Given the description of an element on the screen output the (x, y) to click on. 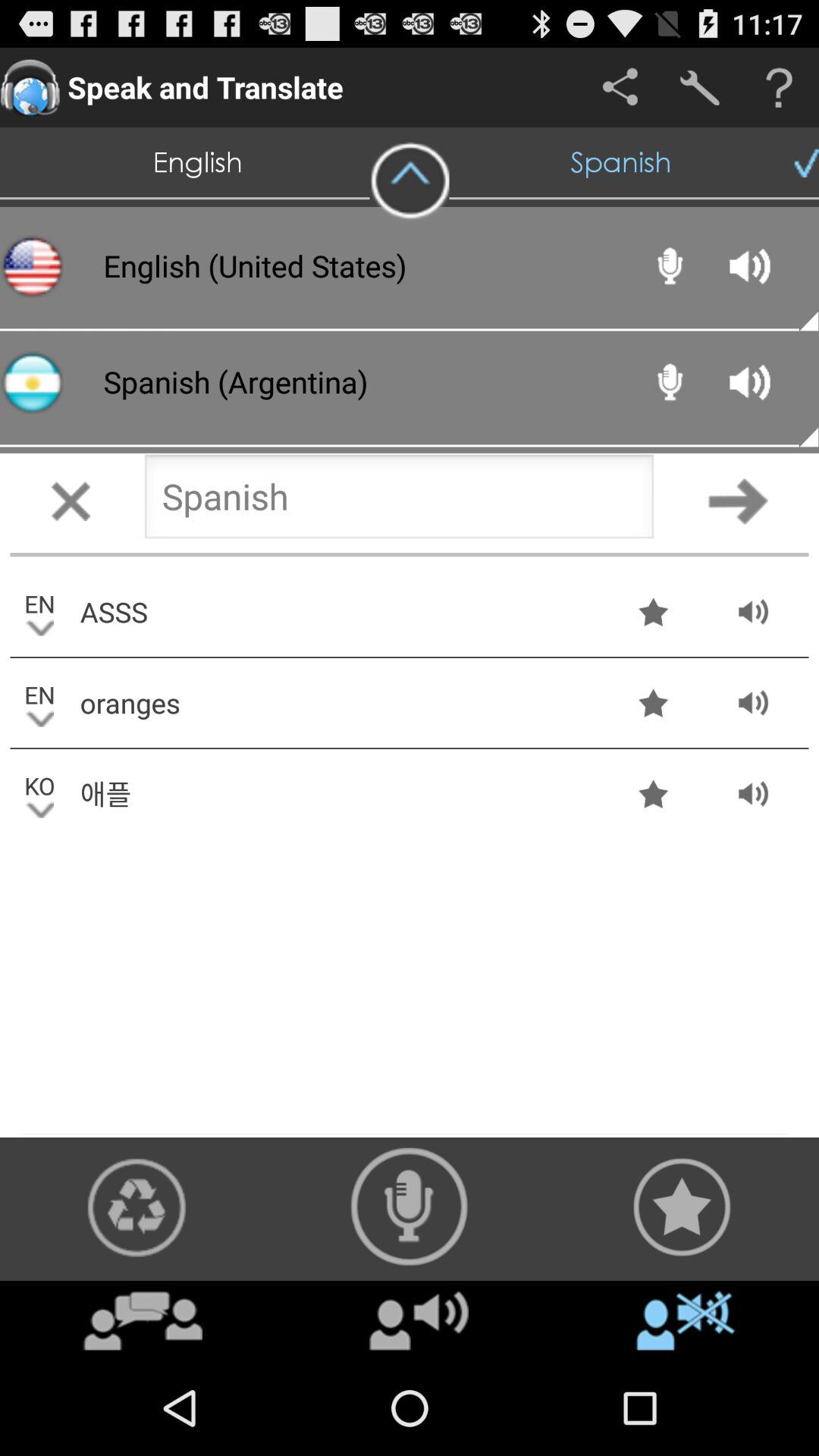
flip until item (142, 1320)
